Given the description of an element on the screen output the (x, y) to click on. 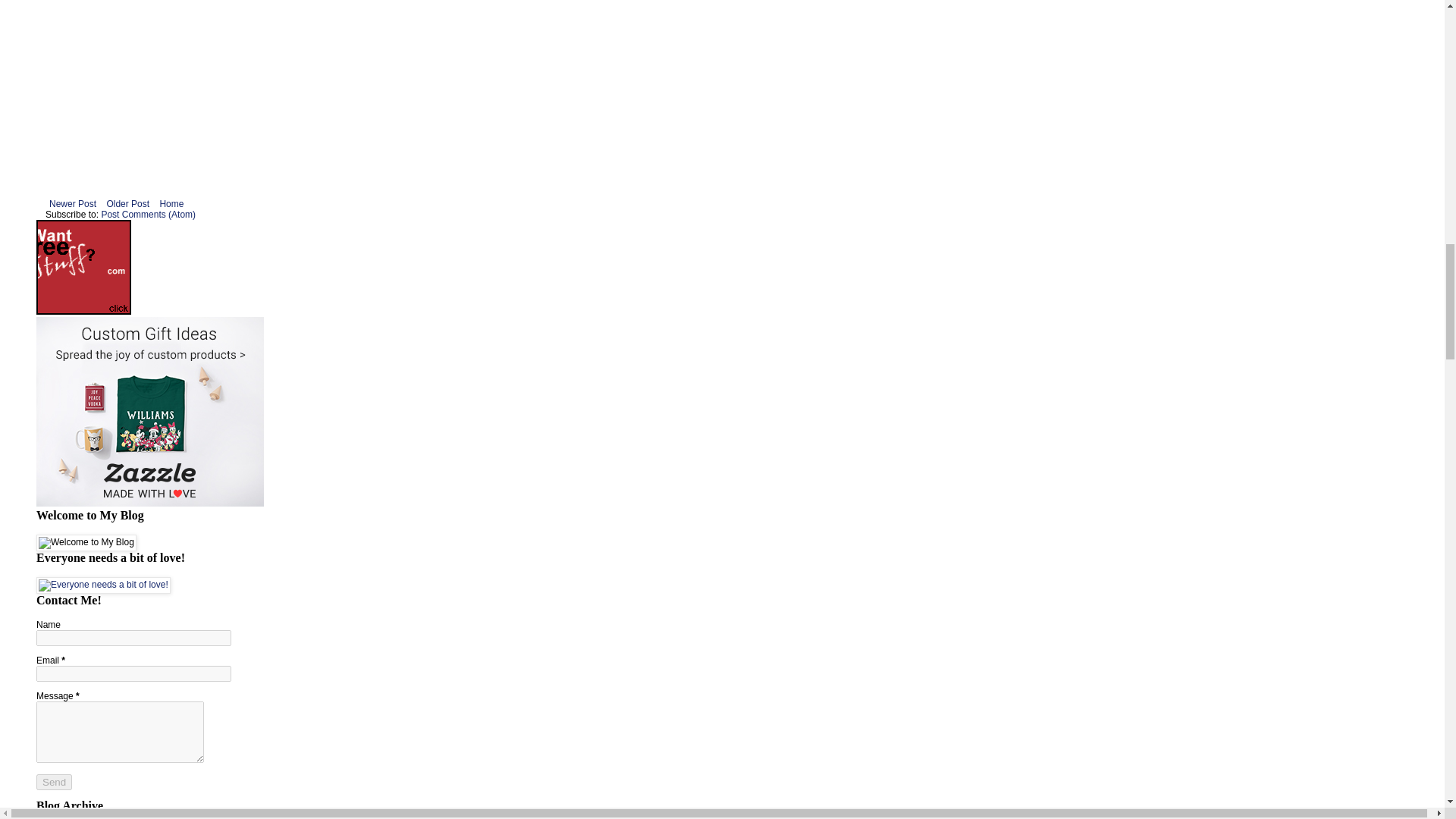
Newer Post (72, 203)
Home (171, 203)
Newer Post (72, 203)
Older Post (126, 203)
Older Post (126, 203)
Send (53, 781)
